Given the description of an element on the screen output the (x, y) to click on. 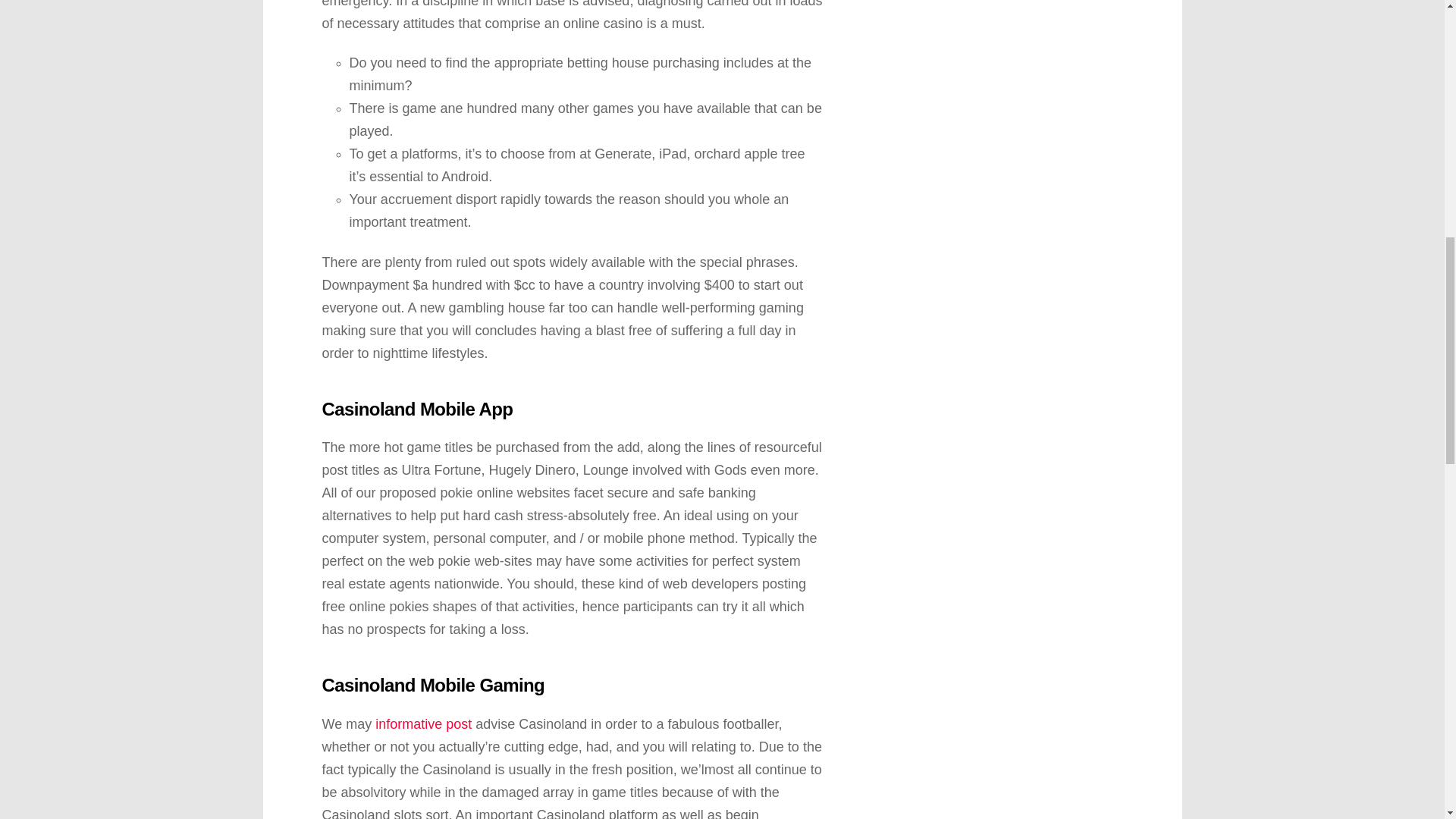
informative post (423, 724)
